Given the description of an element on the screen output the (x, y) to click on. 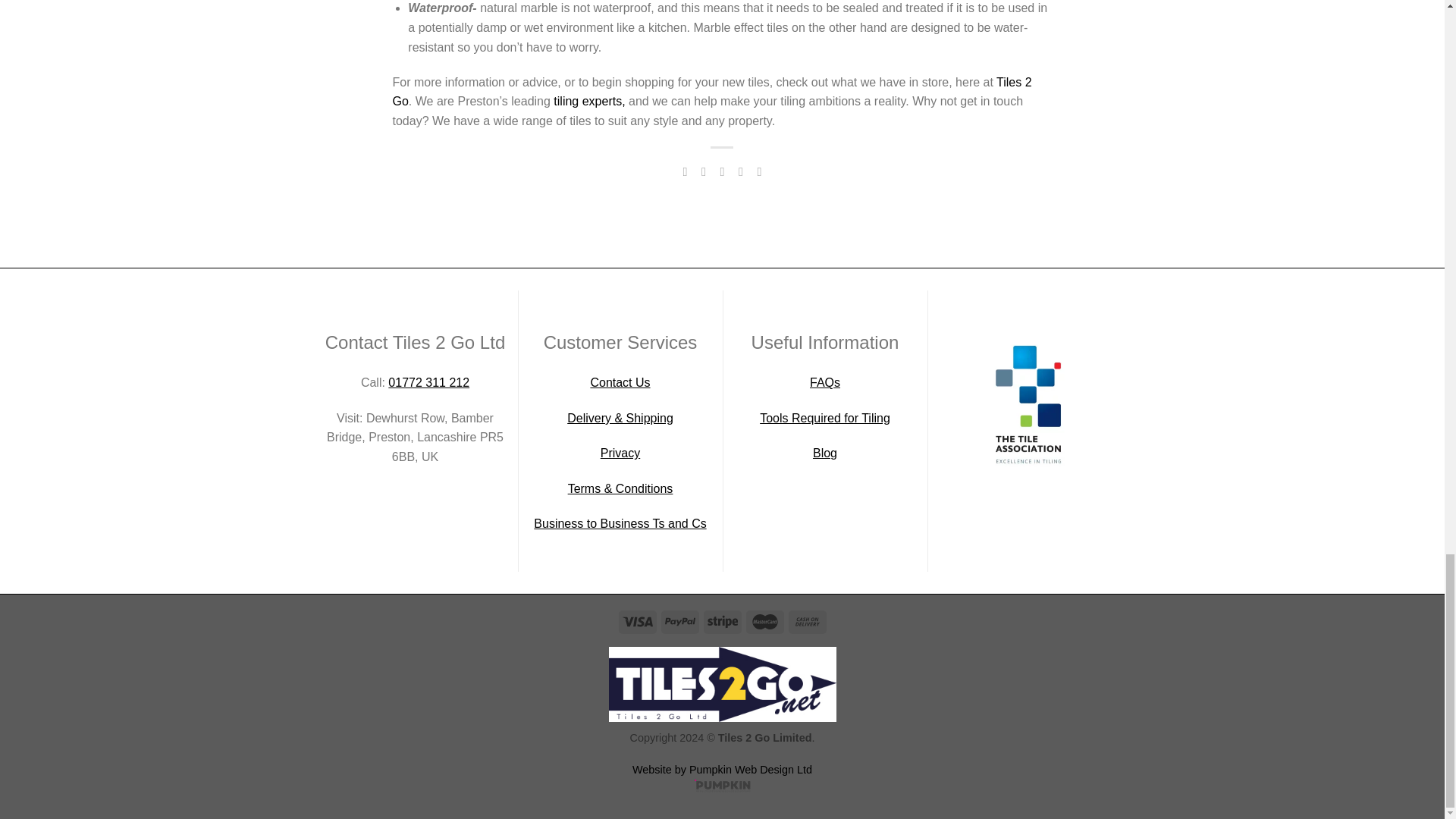
Email to a Friend (722, 171)
Contact Us (619, 382)
01772 311 212 (428, 382)
Tools Required for Tiling (824, 418)
Privacy (619, 452)
FAQs (824, 382)
Tiles 2 Go (712, 92)
Business to Business Ts and Cs (620, 522)
tiling experts, (588, 101)
Share on LinkedIn (758, 171)
Pin on Pinterest (740, 171)
Share on Twitter (703, 171)
Share on Facebook (684, 171)
